Given the description of an element on the screen output the (x, y) to click on. 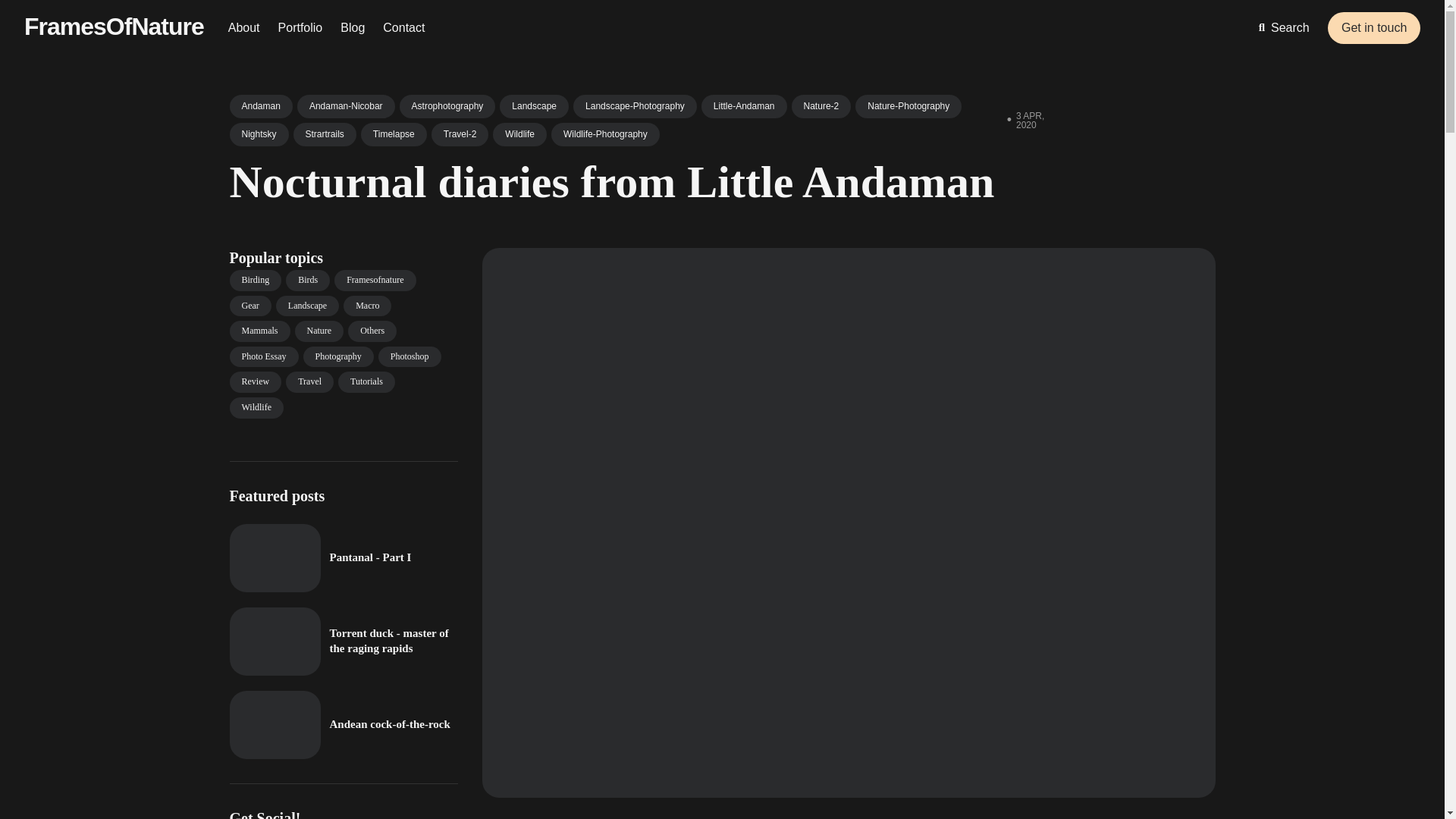
Strartrails (325, 134)
Birds (307, 280)
Andaman (260, 106)
Wildlife (520, 134)
Nature (318, 331)
Photoshop (409, 356)
Tutorials (365, 382)
Astrophotography (447, 106)
Gear (249, 305)
Photography (338, 356)
FramesOfNature (113, 26)
Little-Andaman (744, 106)
Get in touch (1374, 28)
Wildlife-Photography (605, 134)
Travel-2 (459, 134)
